Given the description of an element on the screen output the (x, y) to click on. 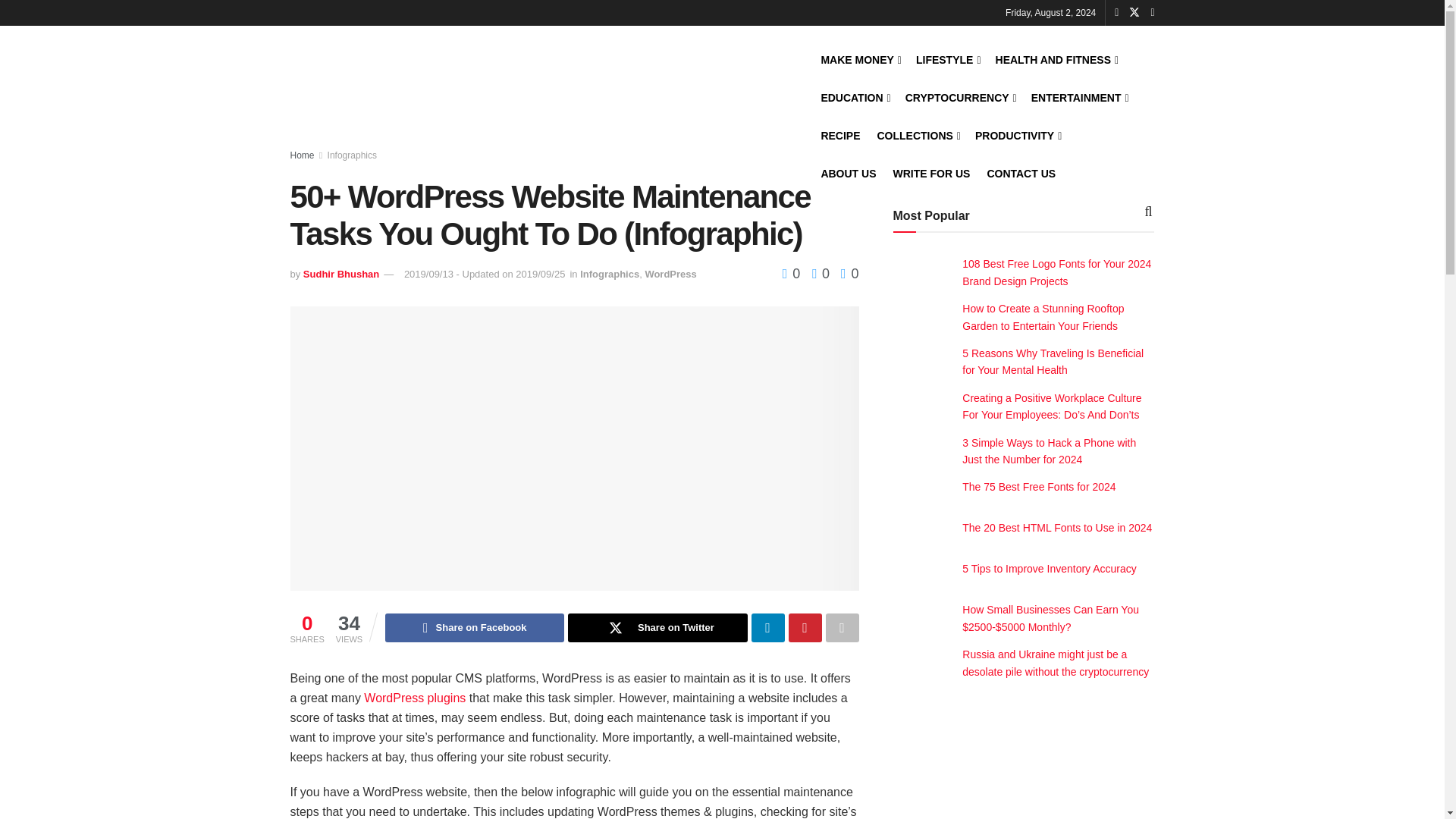
5 Reasons Why Traveling Is Beneficial for Your Mental Health (1052, 361)
108 Best Free Logo Fonts for Your 2024 Brand Design Projects (1056, 271)
The 75 Best Free Fonts for 2024 (1038, 486)
3 Simple Ways to Hack a Phone with Just the Number for 2024 (1048, 451)
